Given the description of an element on the screen output the (x, y) to click on. 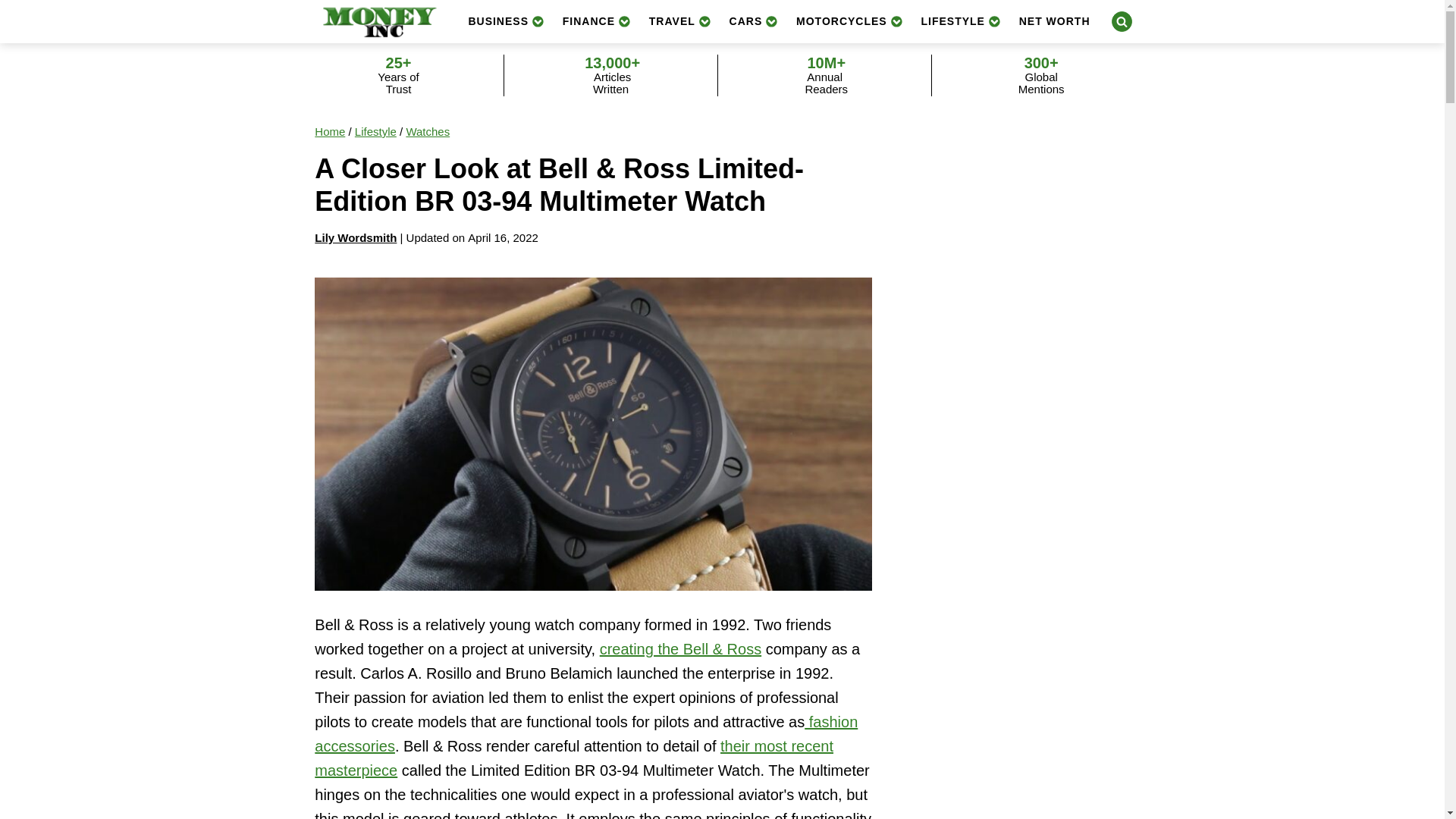
CARS (753, 21)
FINANCE (596, 21)
BUSINESS (505, 21)
TRAVEL (680, 21)
